Given the description of an element on the screen output the (x, y) to click on. 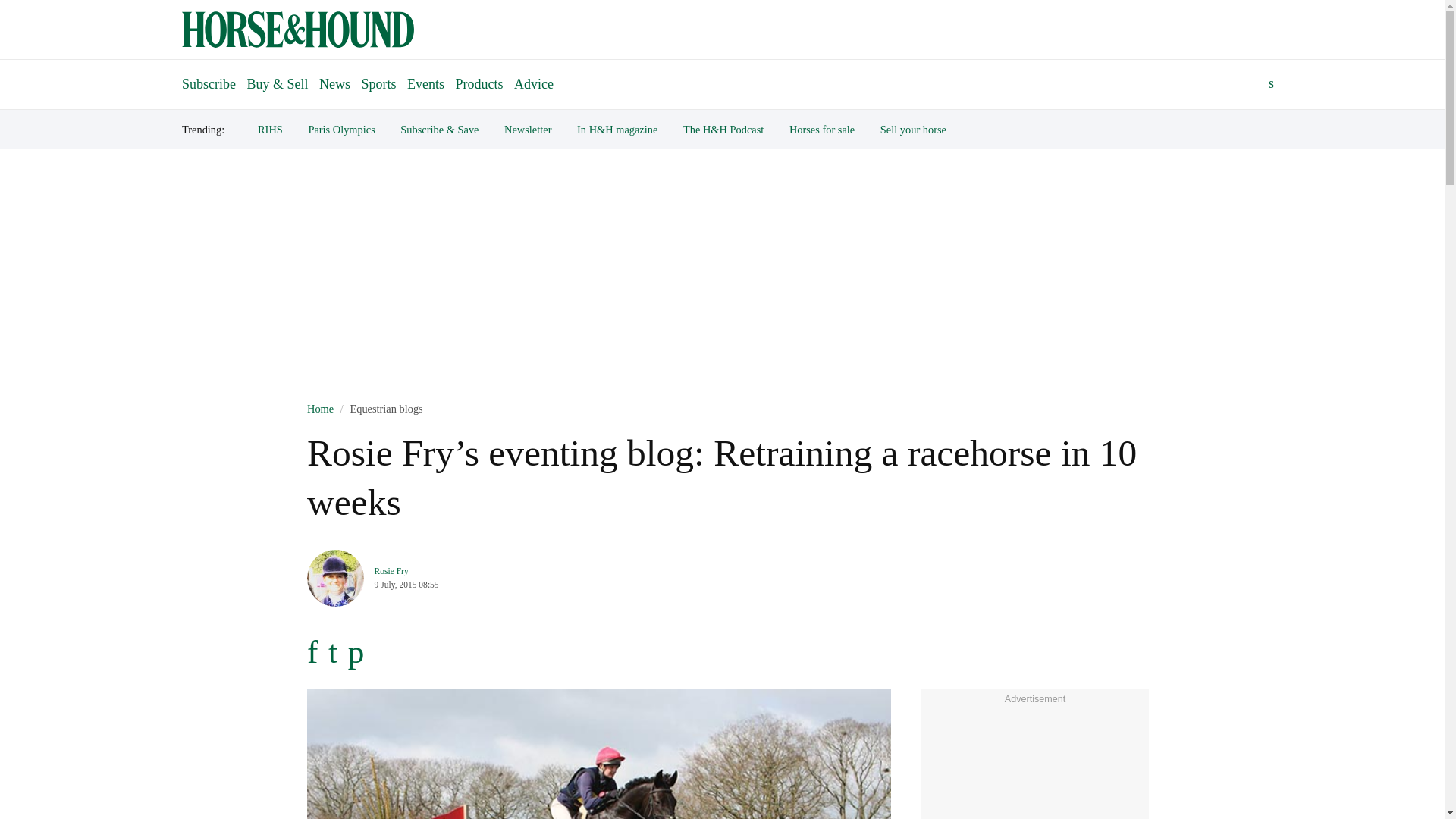
Events (425, 83)
Products (478, 83)
Advice (534, 83)
Subscribe (208, 77)
